Given the description of an element on the screen output the (x, y) to click on. 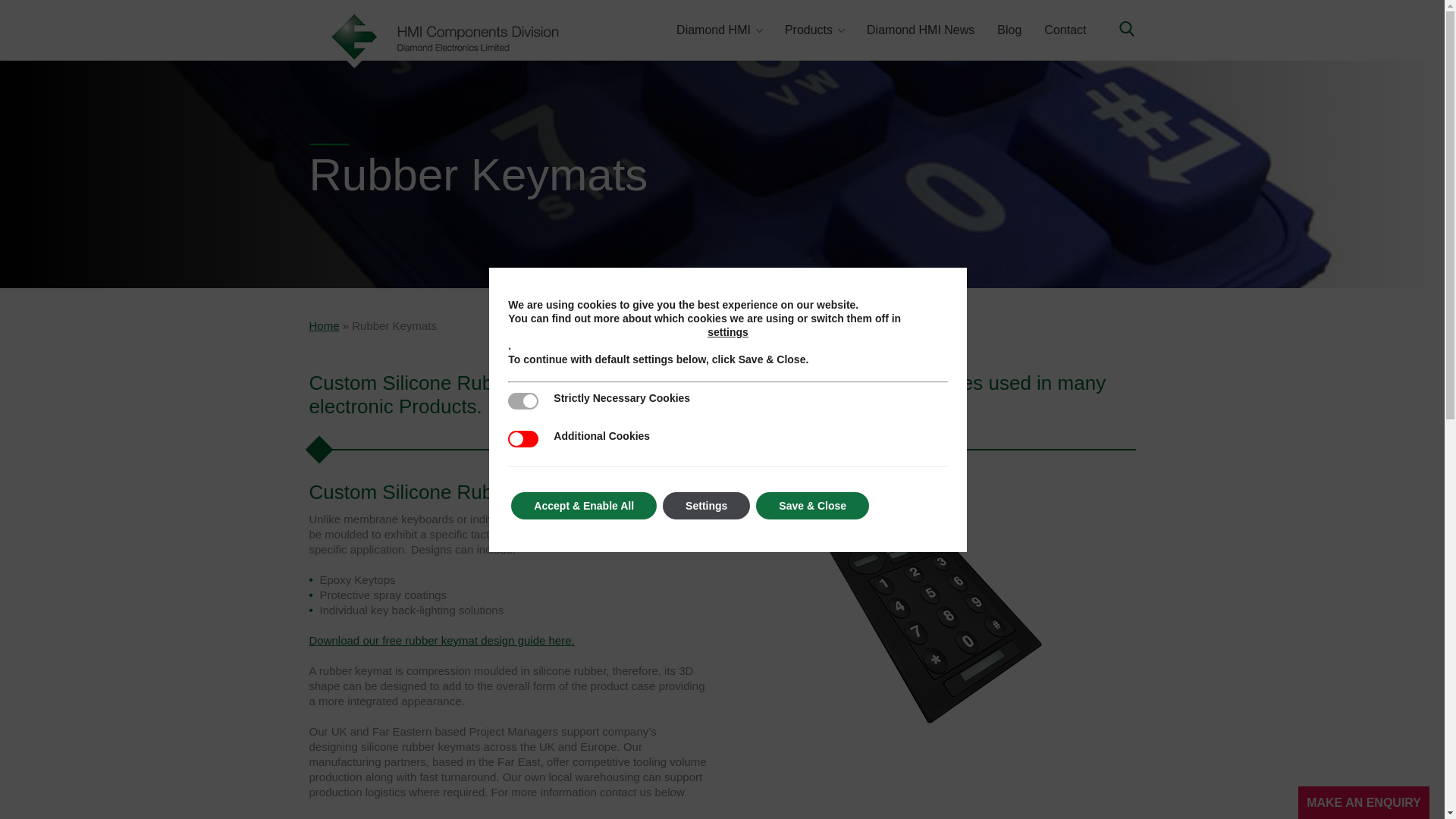
Search (1114, 39)
Search (1114, 39)
Diamond HMI (719, 29)
Search (1114, 39)
Products (814, 29)
